Given the description of an element on the screen output the (x, y) to click on. 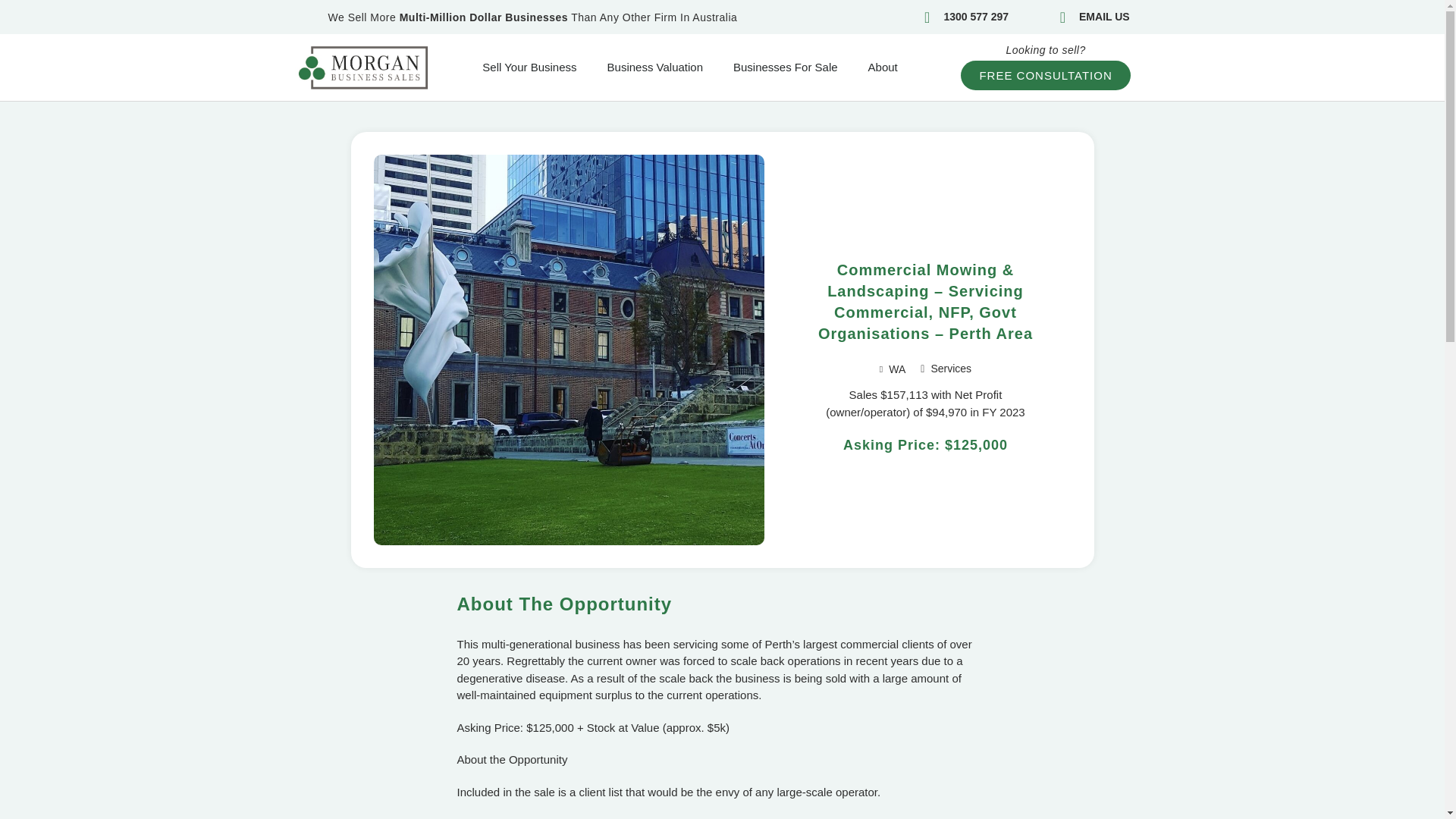
Business Valuation (654, 67)
About (882, 67)
FREE CONSULTATION (1044, 75)
Sell Your Business (529, 67)
1300 577 297 (960, 17)
Businesses For Sale (785, 67)
EMAIL US (1087, 17)
